Given the description of an element on the screen output the (x, y) to click on. 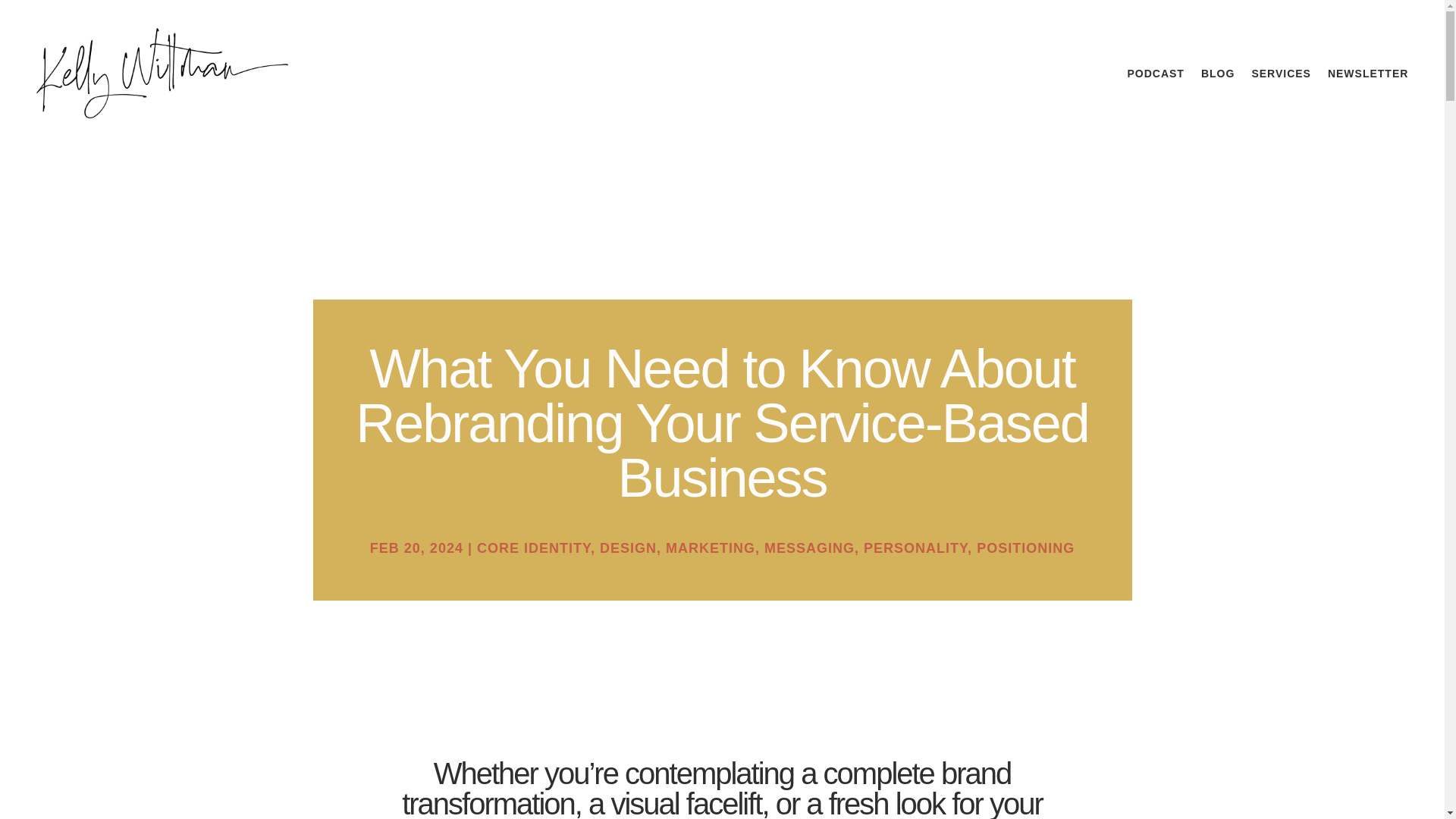
MARKETING (710, 548)
CORE IDENTITY (534, 548)
MESSAGING (809, 548)
POSITIONING (1025, 548)
DESIGN (627, 548)
PERSONALITY (915, 548)
NEWSLETTER (1367, 72)
